Given the description of an element on the screen output the (x, y) to click on. 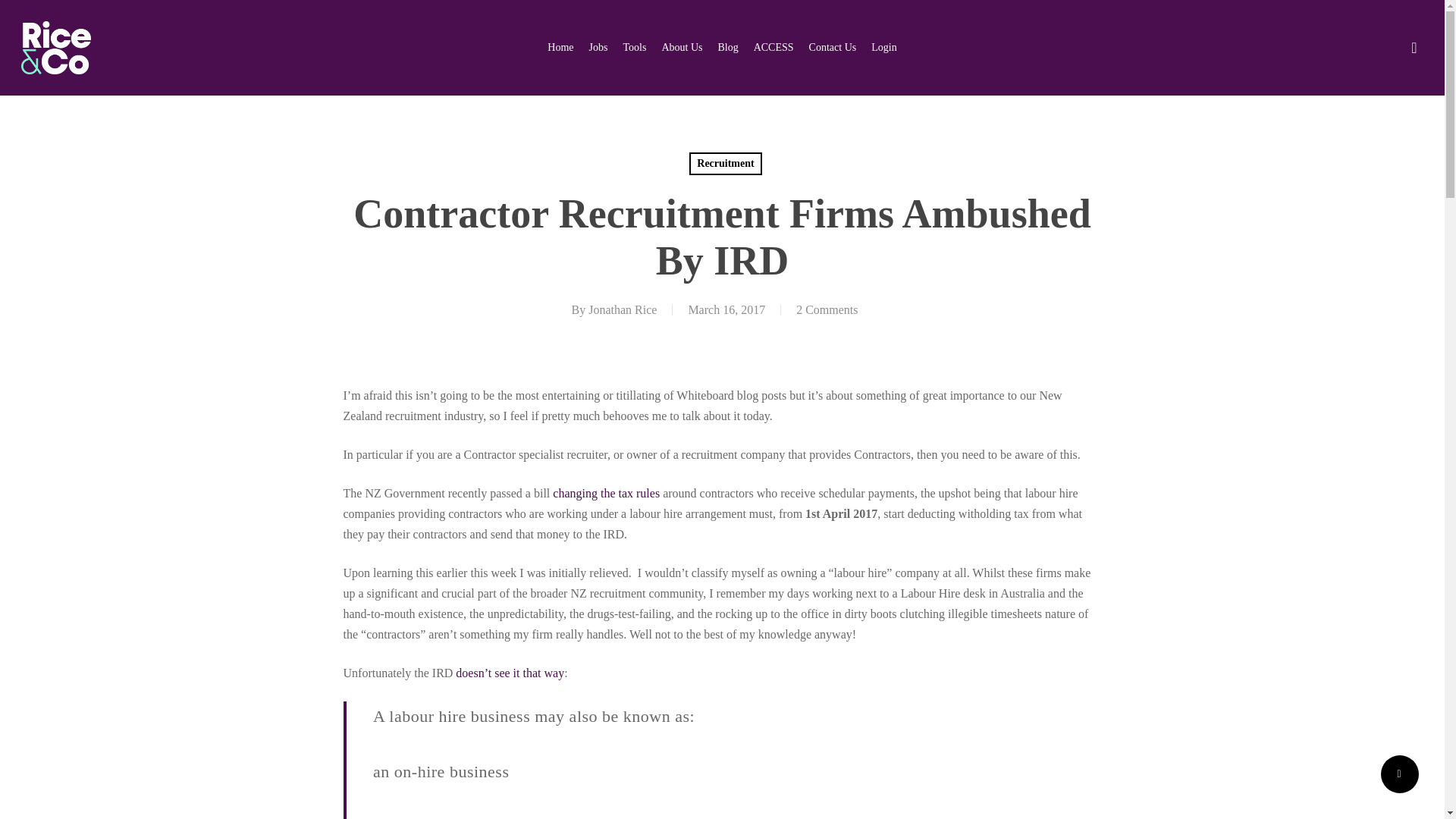
About Us (681, 47)
Blog (727, 47)
ACCESS (773, 47)
Whiteboard Blog (1042, 480)
Posts by Jonathan Rice (622, 309)
2 Comments (826, 309)
Jobs (598, 47)
Contact Us (833, 47)
Jobs (721, 480)
changing the tax rules (606, 492)
Recruitment (724, 163)
Compare Commission Plans (721, 536)
Jonathan Rice (622, 309)
RICE Report (721, 508)
Tools (634, 47)
